Given the description of an element on the screen output the (x, y) to click on. 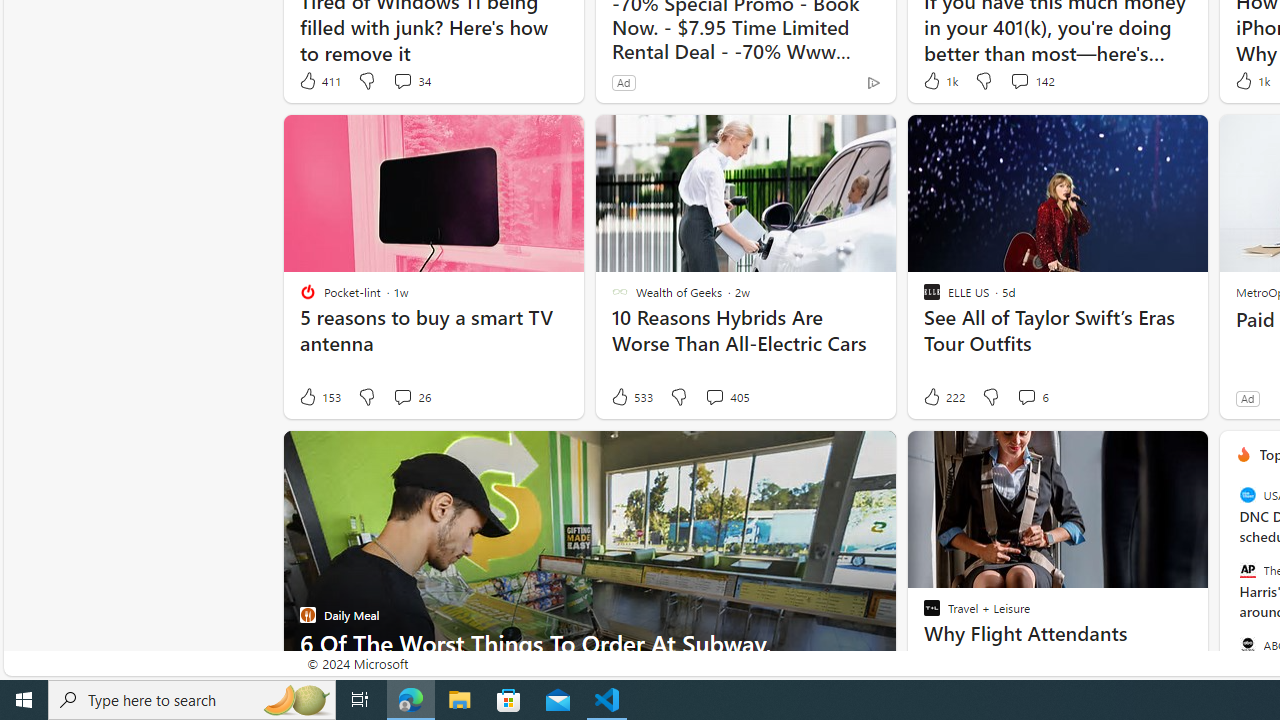
ABC News (1247, 644)
153 Like (319, 397)
Hide this story (1147, 454)
View comments 405 Comment (726, 397)
View comments 34 Comment (402, 80)
View comments 405 Comment (714, 396)
222 Like (942, 397)
View comments 34 Comment (411, 80)
previous (1229, 583)
View comments 142 Comment (1031, 80)
View comments 142 Comment (1019, 80)
